Given the description of an element on the screen output the (x, y) to click on. 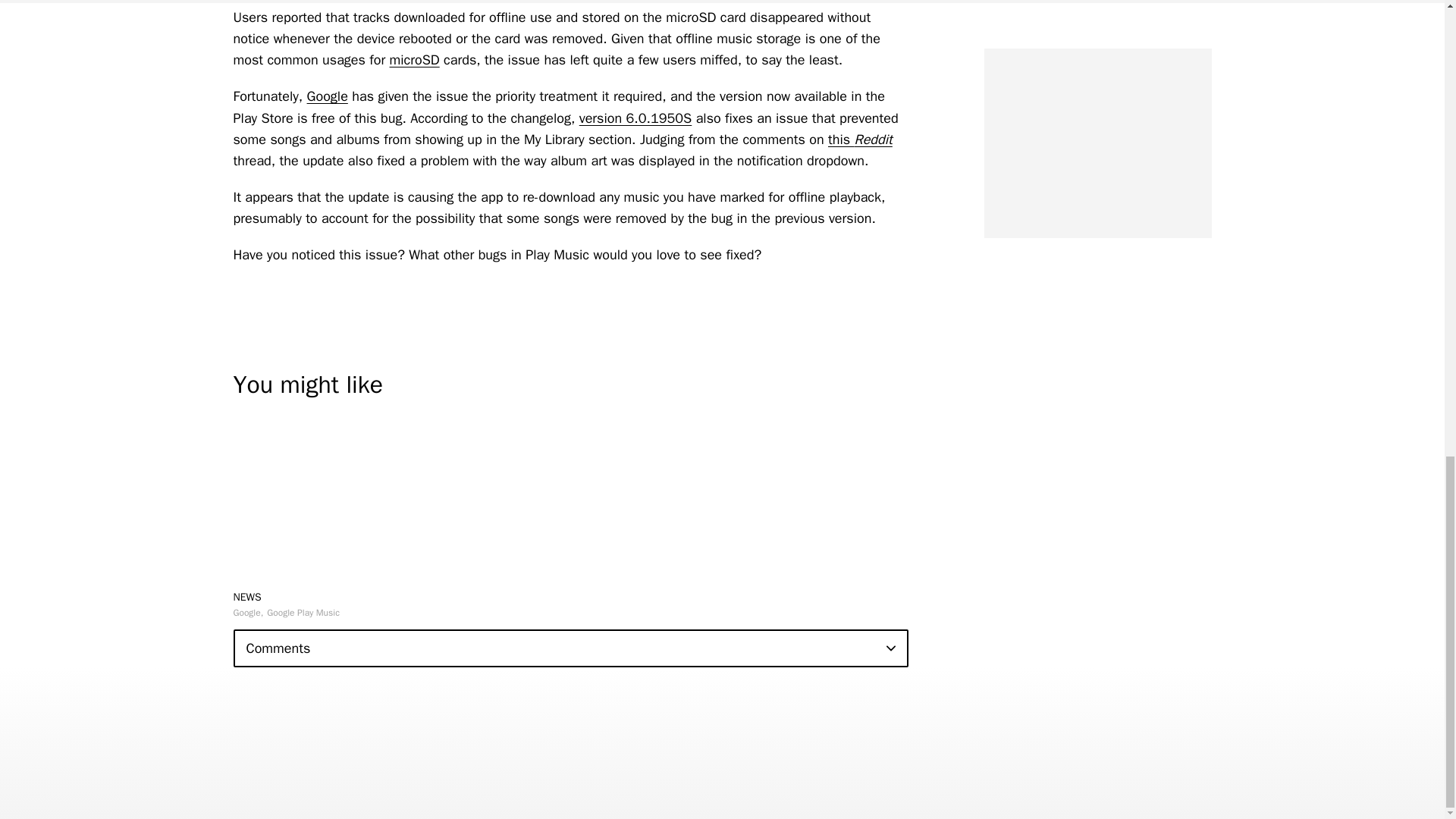
Comments (570, 648)
this Reddit (860, 139)
Google (327, 95)
NEWS (247, 596)
microSD (414, 59)
Google Play Music (302, 612)
Google (247, 612)
version 6.0.1950S (636, 117)
